Given the description of an element on the screen output the (x, y) to click on. 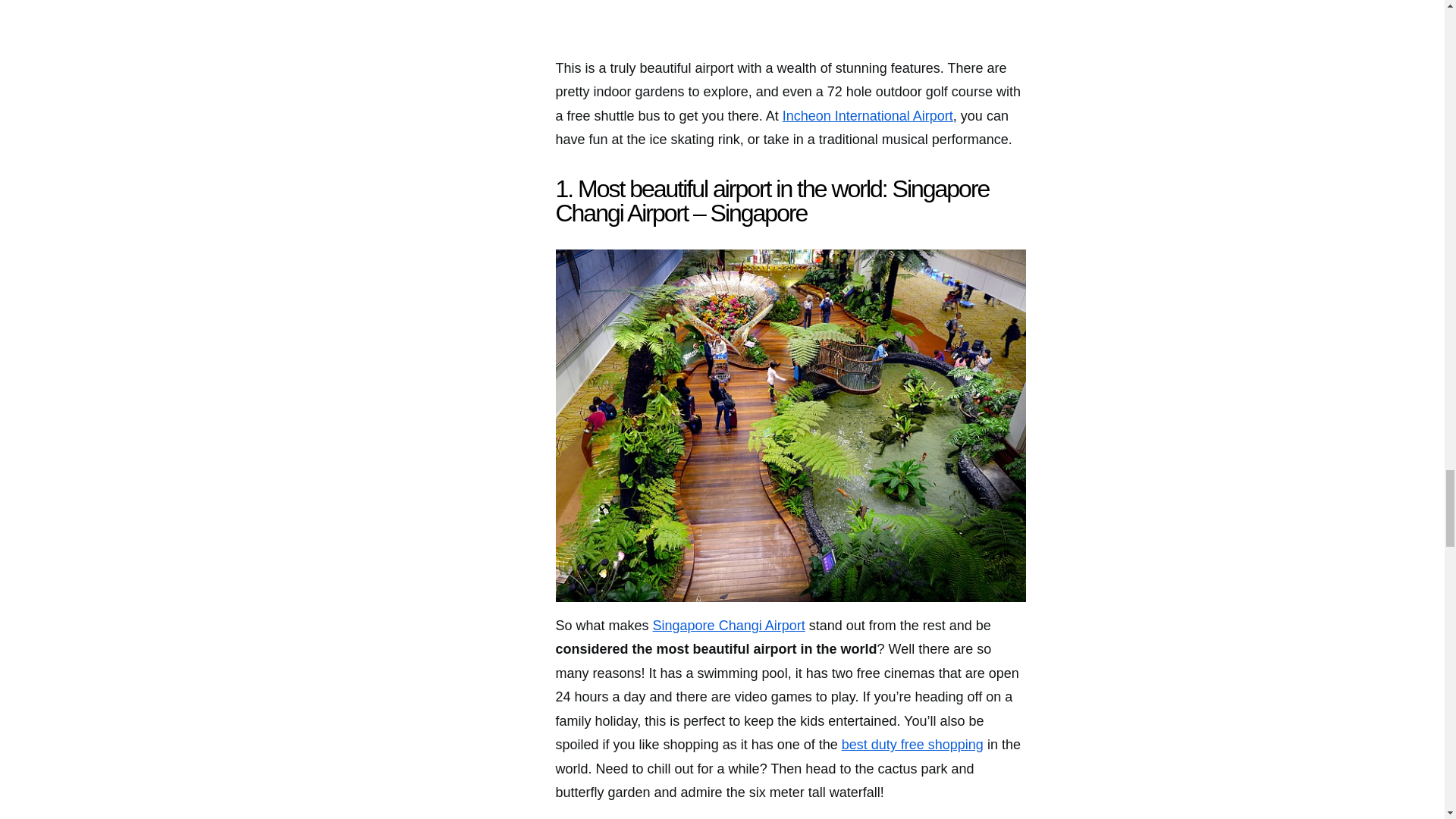
best duty free shopping (912, 744)
Singapore Changi Airport (728, 625)
Incheon International Airport (868, 115)
